Given the description of an element on the screen output the (x, y) to click on. 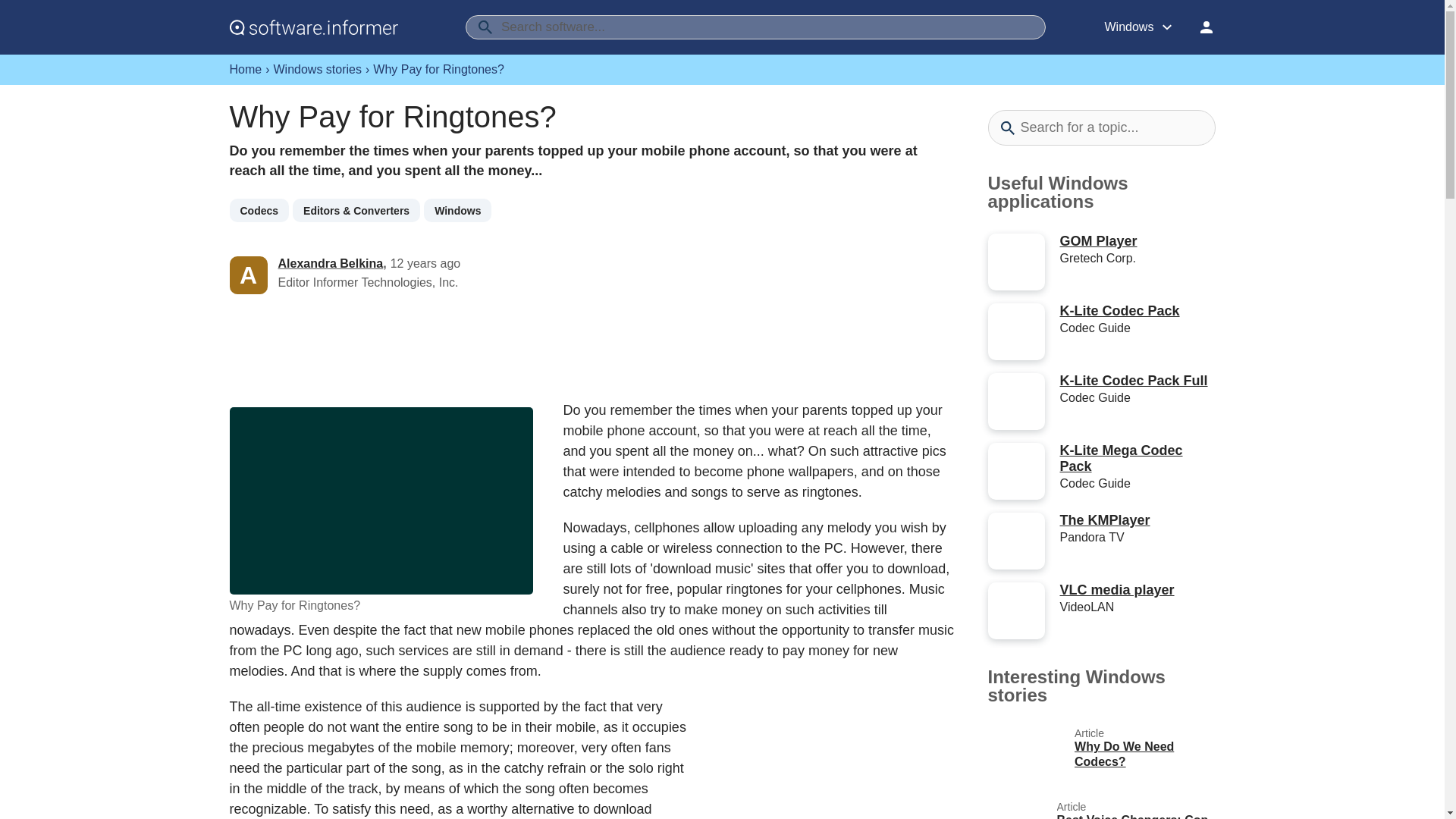
Home (245, 69)
GOM Player (1098, 240)
Advertisement (591, 346)
Alexandra Belkina (330, 263)
VLC media player (1116, 589)
Why Pay for Ringtones? (380, 500)
Advertisement (827, 763)
K-Lite Codec Pack (1119, 310)
K-Lite Mega Codec Pack (1120, 458)
Windows stories (317, 69)
